Given the description of an element on the screen output the (x, y) to click on. 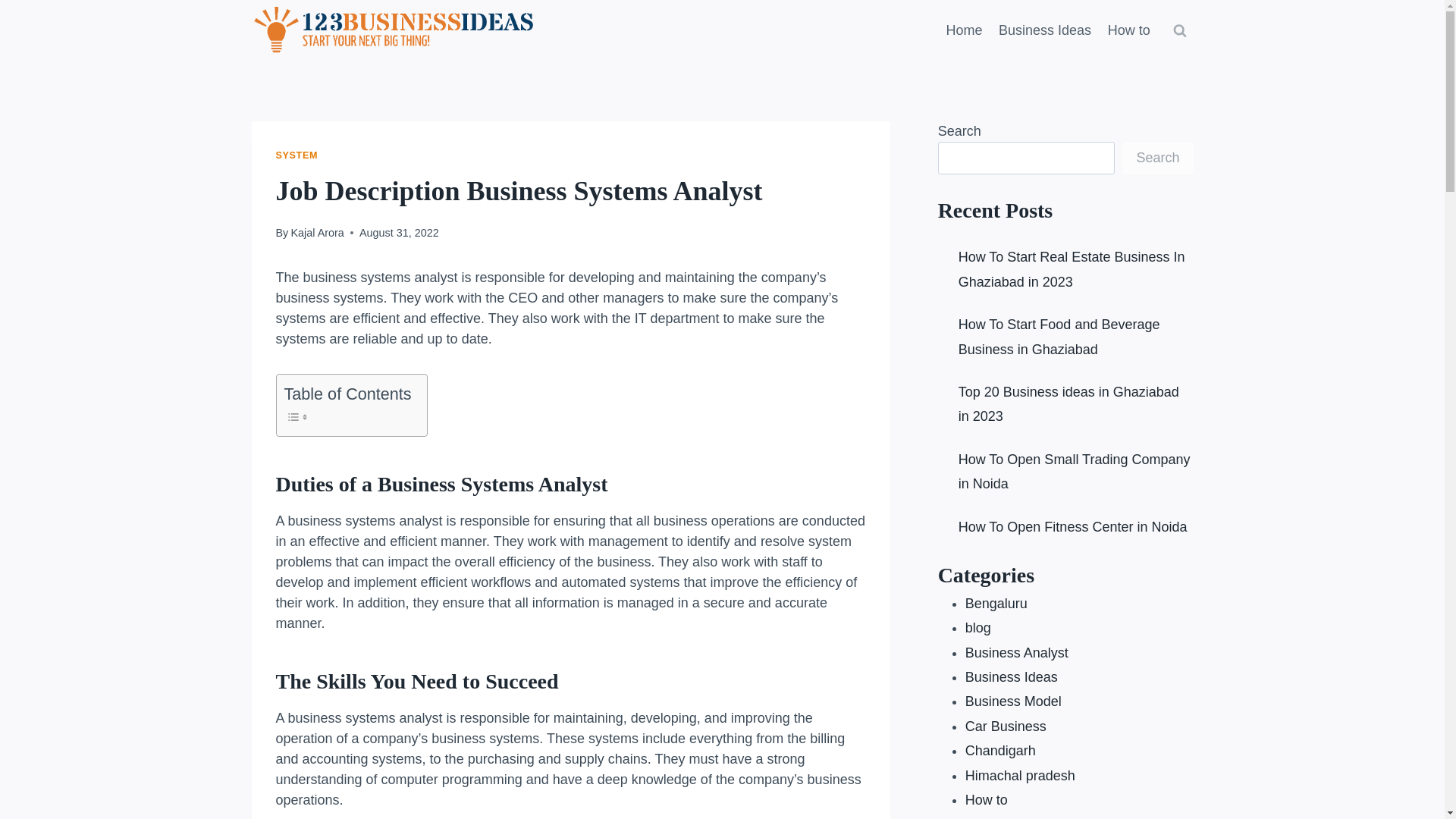
Home (964, 30)
SYSTEM (297, 154)
Business Ideas (1044, 30)
Kajal Arora (316, 232)
How to (1128, 30)
